Given the description of an element on the screen output the (x, y) to click on. 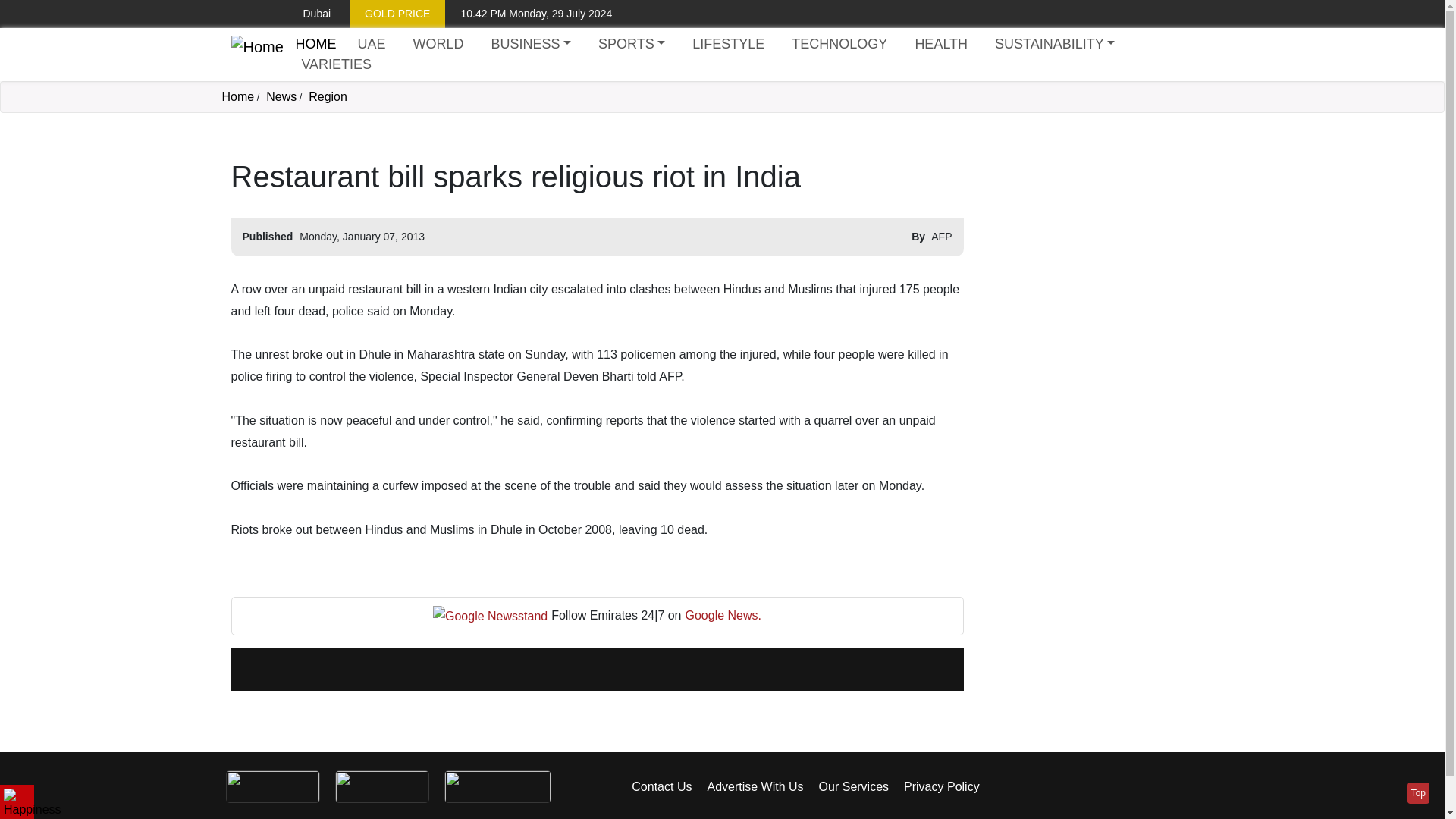
Home (256, 54)
HOME (315, 43)
Region (327, 96)
SPORTS (631, 44)
Home (237, 96)
Go to top (1418, 792)
Dubai (305, 13)
Google News. (723, 616)
UAE (370, 44)
VARIETIES (336, 64)
TECHNOLOGY (839, 44)
News (281, 96)
SUSTAINABILITY (1054, 44)
Home (315, 43)
LIFESTYLE (727, 44)
